Given the description of an element on the screen output the (x, y) to click on. 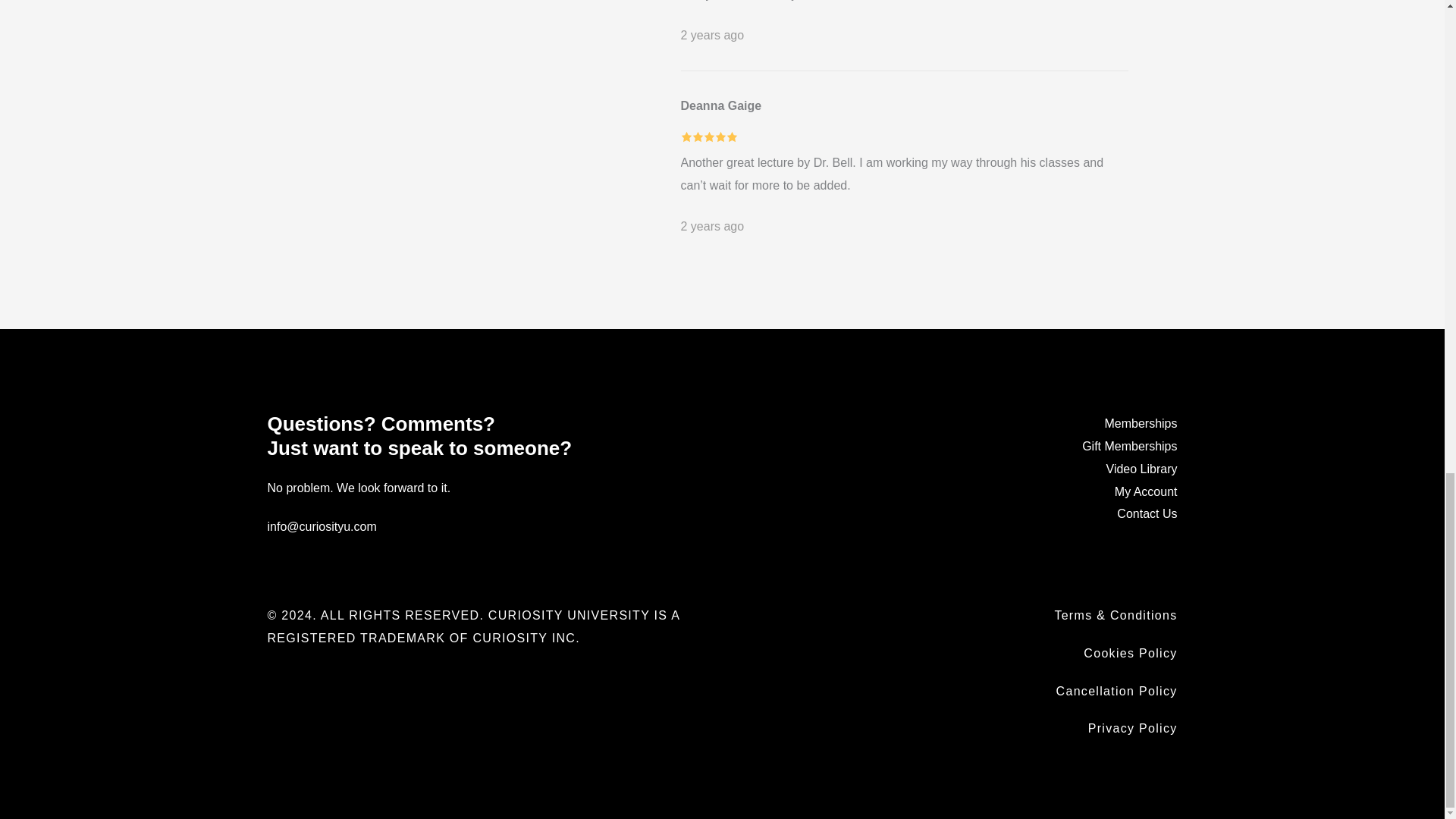
My Account (1146, 491)
Memberships (1139, 422)
Video Library (1141, 468)
Contact Us (1146, 513)
Gift Memberships (1128, 445)
